Given the description of an element on the screen output the (x, y) to click on. 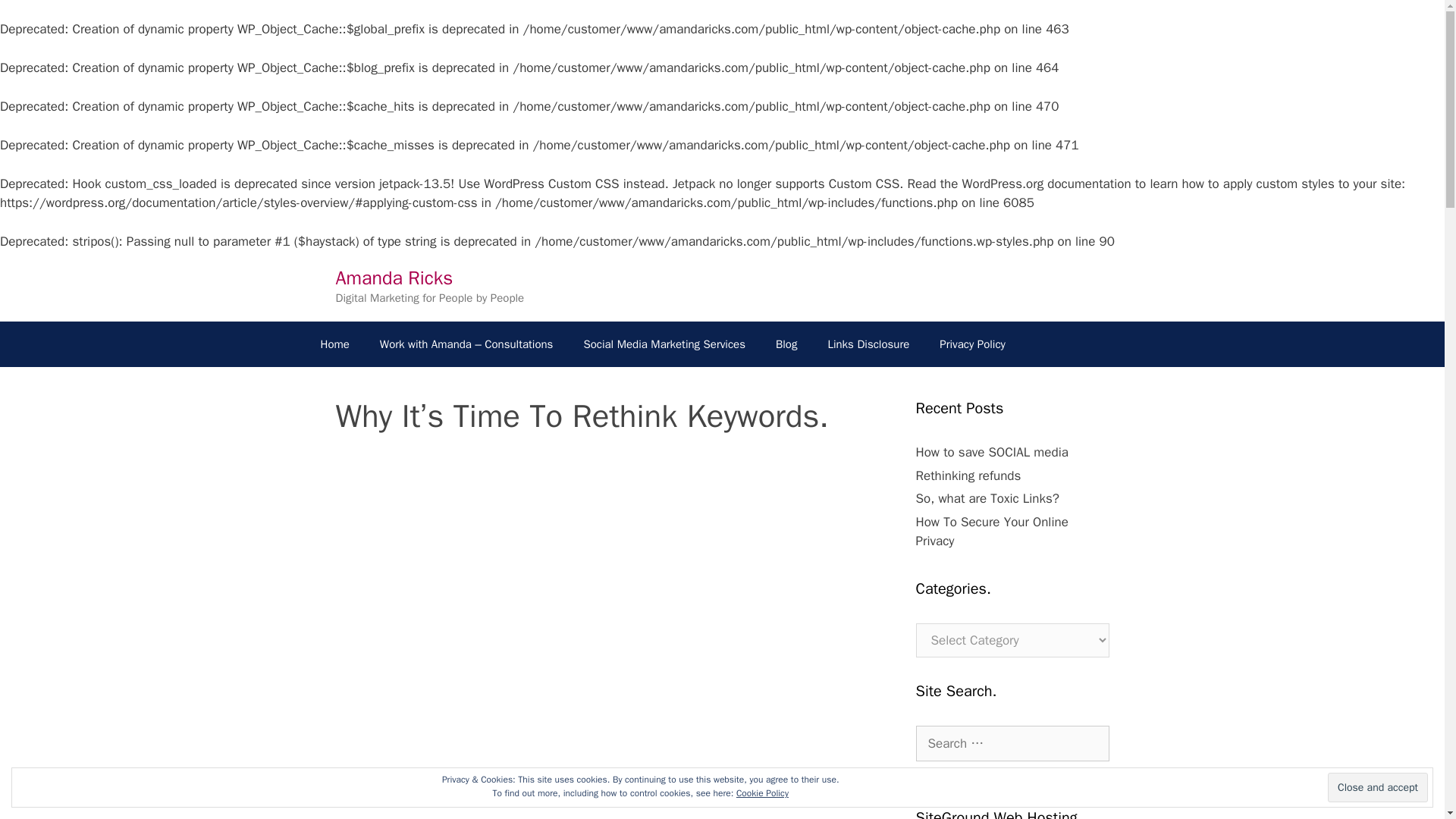
Blog (786, 343)
Social Media Marketing Services (663, 343)
So, what are Toxic Links? (987, 498)
Close and accept (1377, 787)
Amanda Ricks (393, 277)
Links Disclosure (868, 343)
How to save SOCIAL media (991, 452)
Privacy Policy (972, 343)
Search for: (1012, 742)
Rethinking refunds (968, 474)
